Given the description of an element on the screen output the (x, y) to click on. 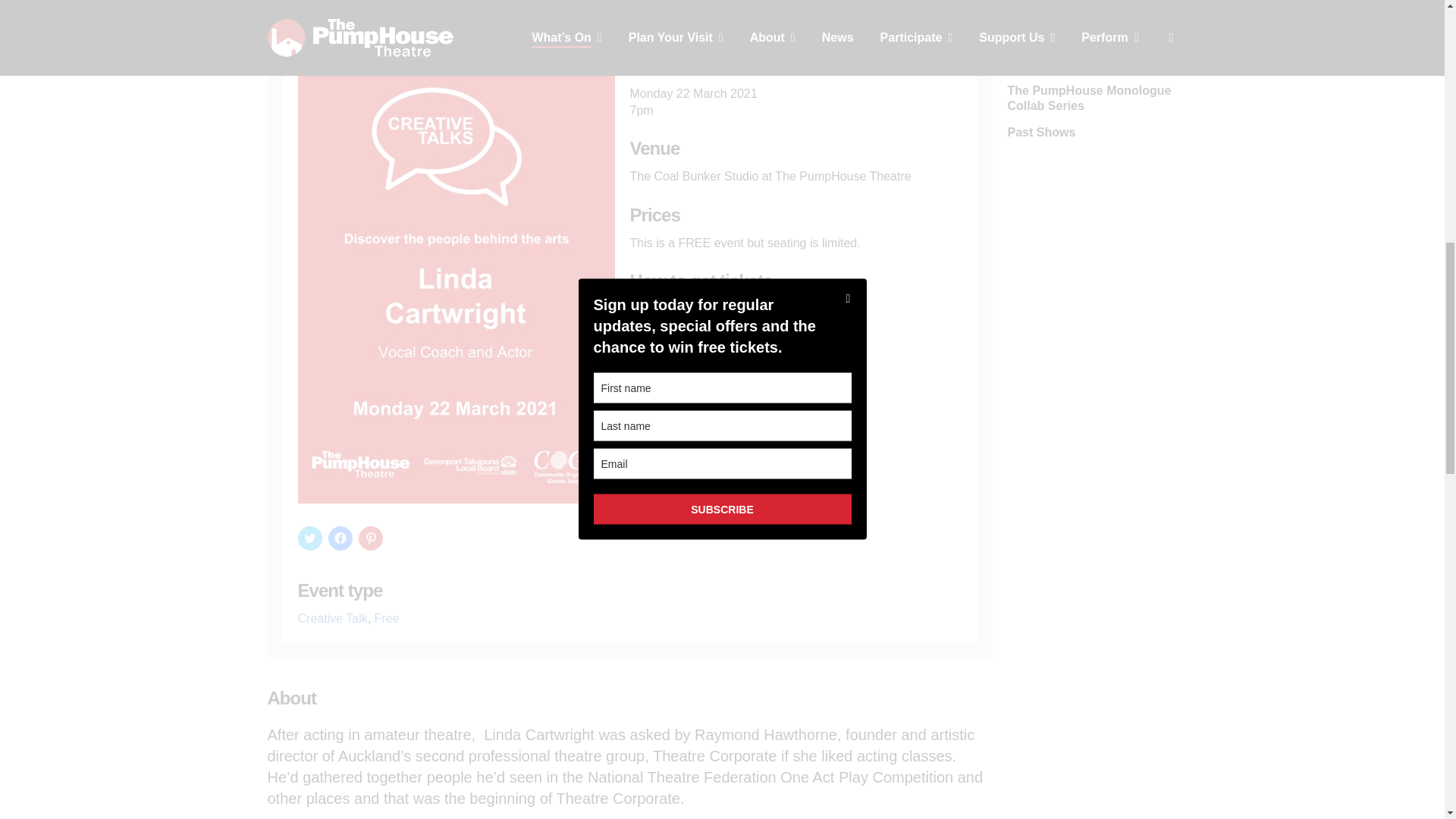
Click to share on Pinterest (369, 538)
Click to share on Twitter (309, 538)
Click to share on Facebook (339, 538)
